Given the description of an element on the screen output the (x, y) to click on. 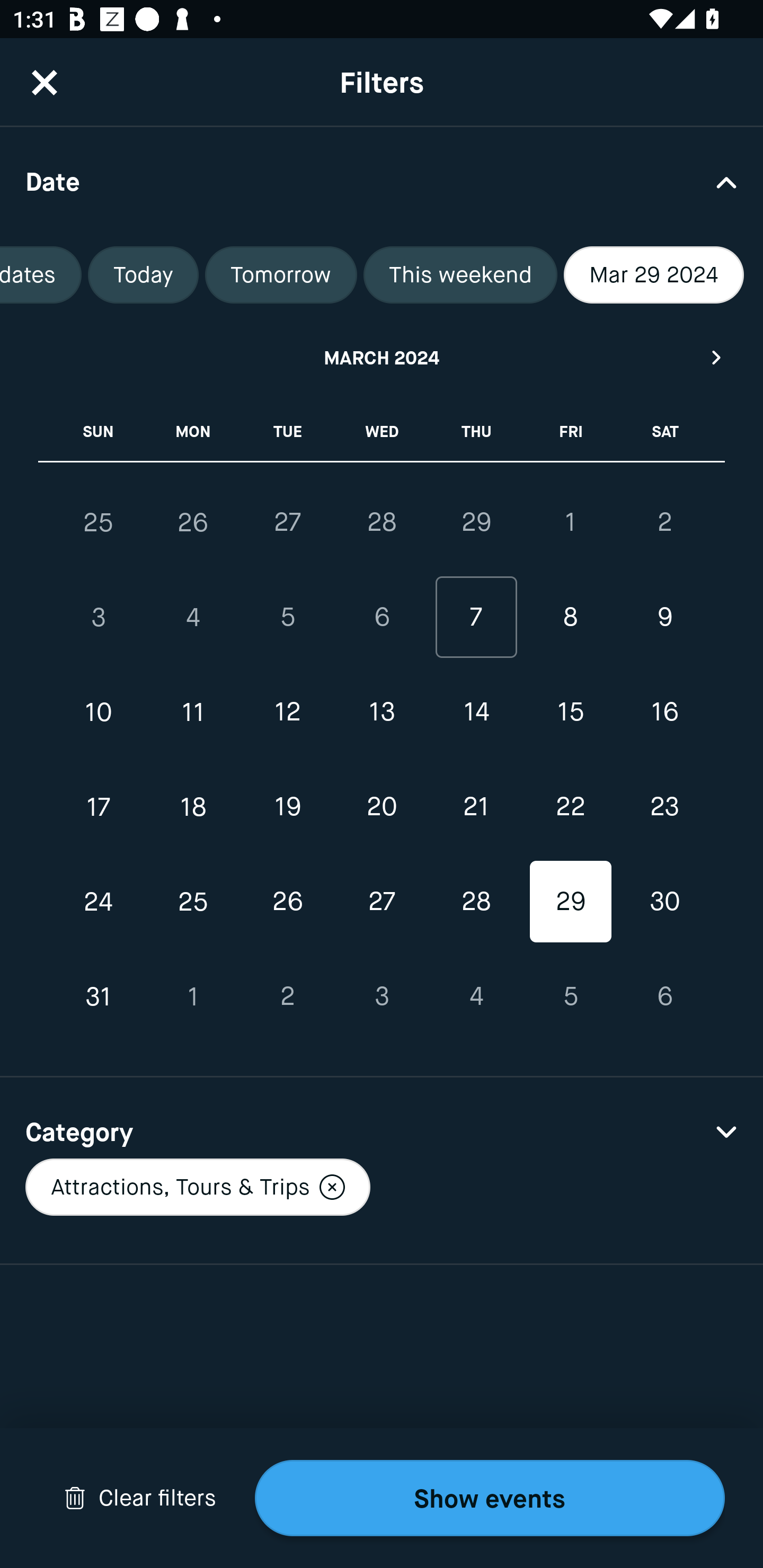
CloseButton (44, 82)
Date Drop Down Arrow (381, 181)
Today (142, 274)
Tomorrow (281, 274)
This weekend (460, 274)
Mar 29 2024 (653, 274)
Next (717, 357)
25 (98, 522)
26 (192, 522)
27 (287, 522)
28 (381, 522)
29 (475, 522)
1 (570, 522)
2 (664, 522)
3 (98, 617)
4 (192, 617)
5 (287, 617)
6 (381, 617)
7 (475, 617)
8 (570, 617)
9 (664, 617)
10 (98, 711)
11 (192, 711)
12 (287, 711)
13 (381, 711)
14 (475, 711)
15 (570, 711)
16 (664, 711)
17 (98, 806)
18 (192, 806)
19 (287, 806)
20 (381, 806)
21 (475, 806)
22 (570, 806)
23 (664, 806)
24 (98, 901)
25 (192, 901)
26 (287, 901)
27 (381, 901)
28 (475, 901)
29 (570, 901)
30 (664, 901)
31 (98, 996)
1 (192, 996)
2 (287, 996)
3 (381, 996)
4 (475, 996)
5 (570, 996)
6 (664, 996)
Attractions, Tours & Trips Localized description (197, 1186)
Drop Down Arrow Clear filters (139, 1497)
Show events (489, 1497)
